Given the description of an element on the screen output the (x, y) to click on. 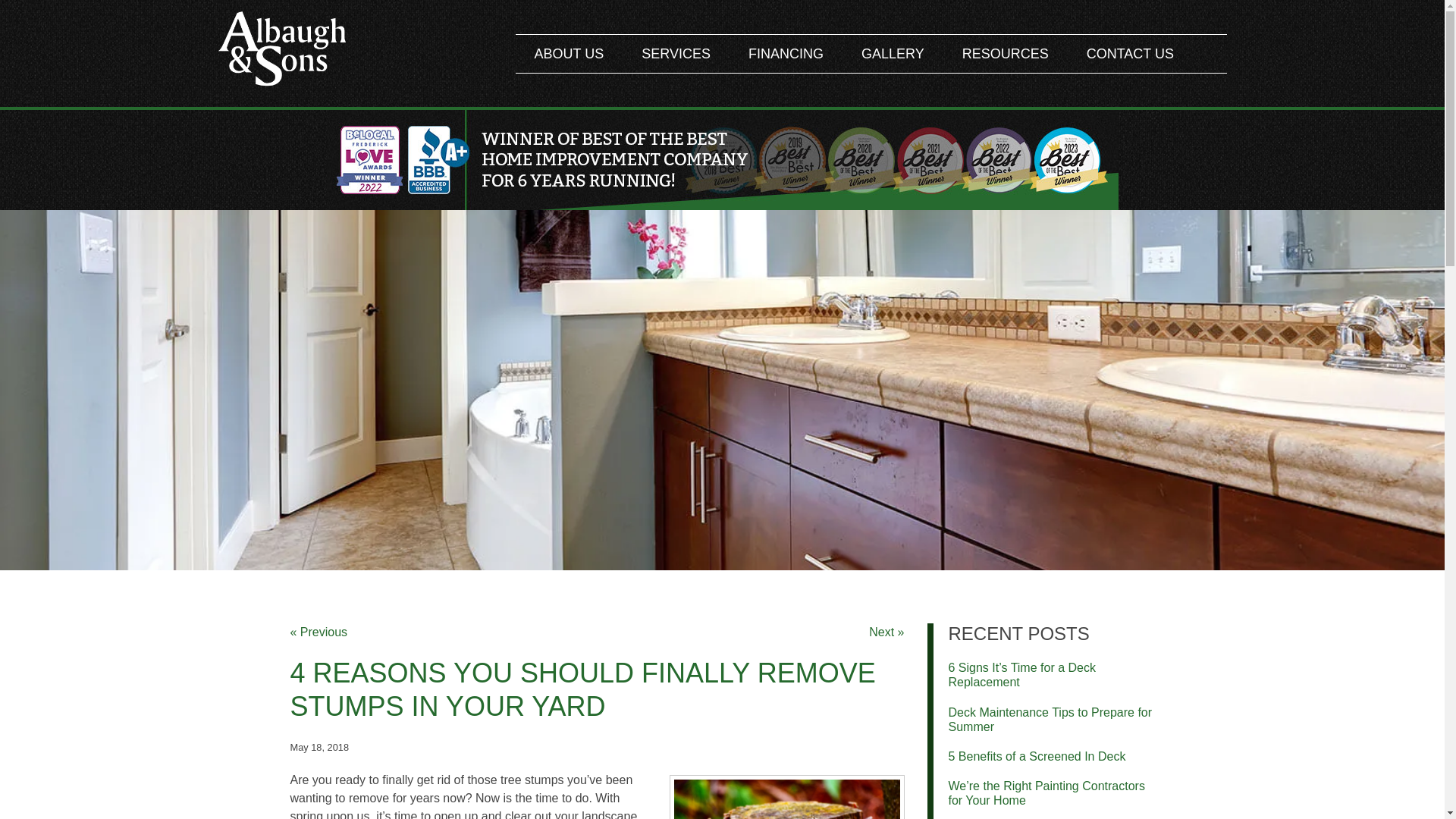
ABOUT US (569, 53)
SERVICES (676, 53)
